Given the description of an element on the screen output the (x, y) to click on. 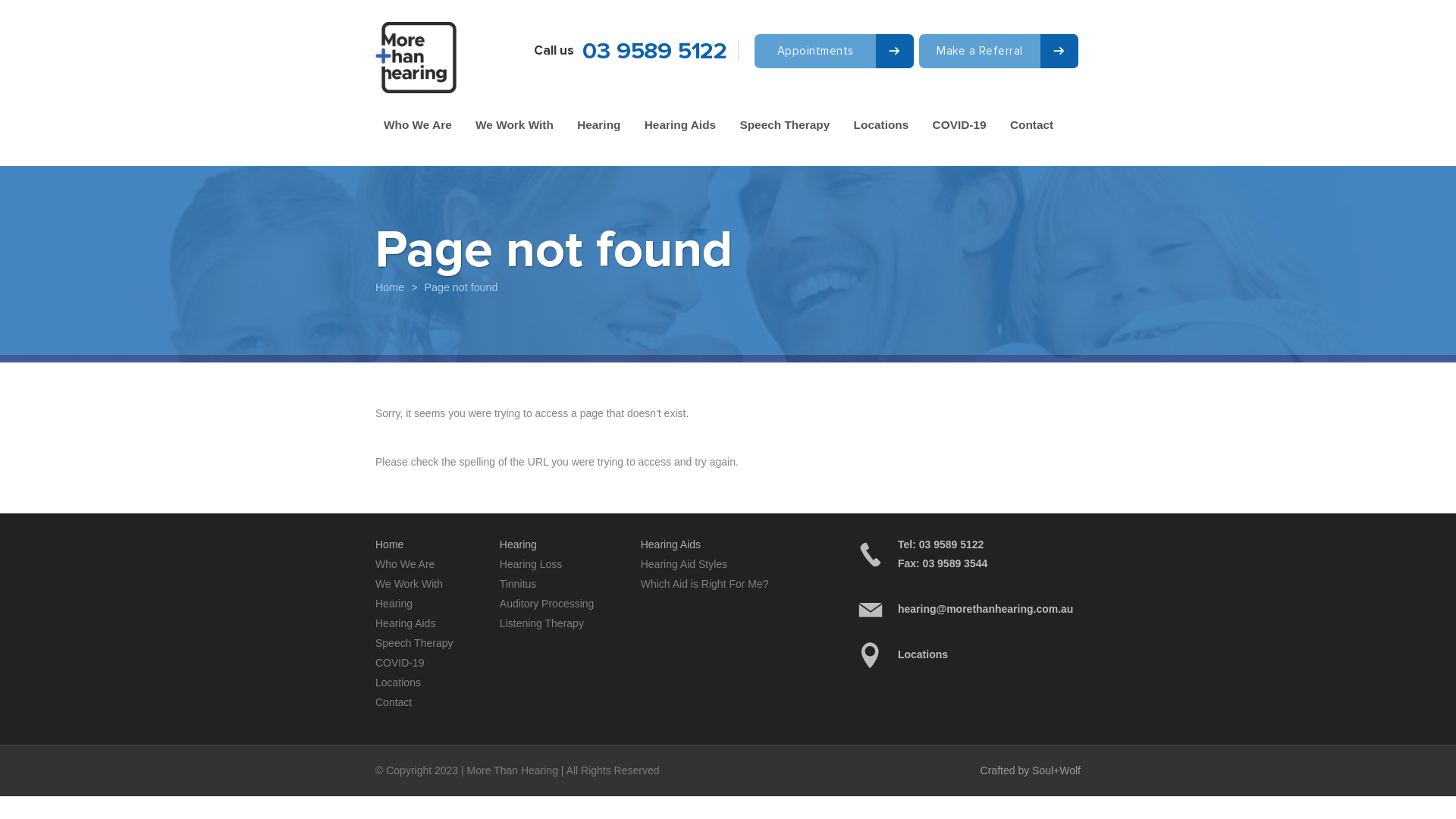
Hearing Loss Element type: text (530, 564)
Hearing Element type: text (393, 603)
Locations Element type: text (397, 682)
Appointments Element type: text (833, 50)
Hearing Aids Element type: text (679, 124)
Home Element type: text (389, 288)
Contact Element type: text (393, 702)
Hearing Aids Element type: text (670, 544)
Hearing Aids Element type: text (405, 623)
COVID-19 Element type: text (399, 662)
03 9589 5122 Element type: text (654, 51)
We Work With Element type: text (514, 124)
Tinnitus Element type: text (517, 583)
Locations Element type: text (967, 654)
COVID-19 Element type: text (959, 124)
Hearing Aid Styles Element type: text (683, 564)
Auditory Processing Element type: text (546, 603)
Which Aid is Right For Me? Element type: text (704, 583)
Listening Therapy Element type: text (541, 623)
Who We Are Element type: text (417, 124)
hearing@morethanhearing.com.au Element type: text (967, 608)
Hearing Element type: text (598, 124)
Tel: 03 9589 5122
Fax: 03 9589 3544 Element type: text (967, 554)
Locations Element type: text (881, 124)
Page not found Element type: text (460, 288)
Contact Element type: text (1031, 124)
Crafted by Soul+Wolf Element type: text (1030, 770)
Hearing Element type: text (517, 544)
Speech Therapy Element type: text (413, 643)
Home Element type: text (389, 544)
Speech Therapy Element type: text (784, 124)
Who We Are Element type: text (404, 564)
We Work With Element type: text (408, 583)
Make a Referral Element type: text (998, 50)
